Given the description of an element on the screen output the (x, y) to click on. 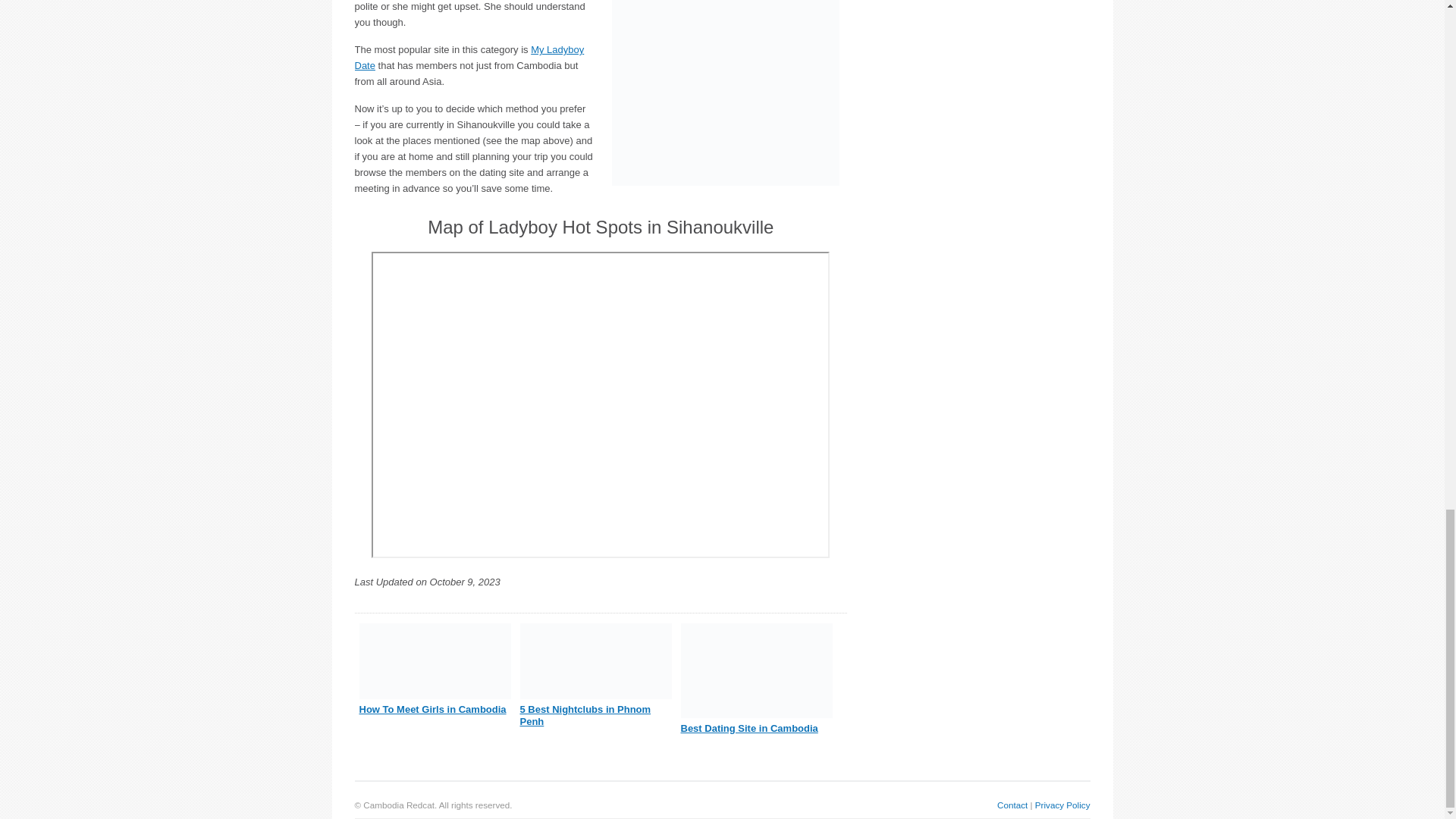
My Ladyboy Date (470, 57)
5 Best Nightclubs in Phnom Penh (584, 715)
How To Meet Girls in Cambodia (432, 708)
